Given the description of an element on the screen output the (x, y) to click on. 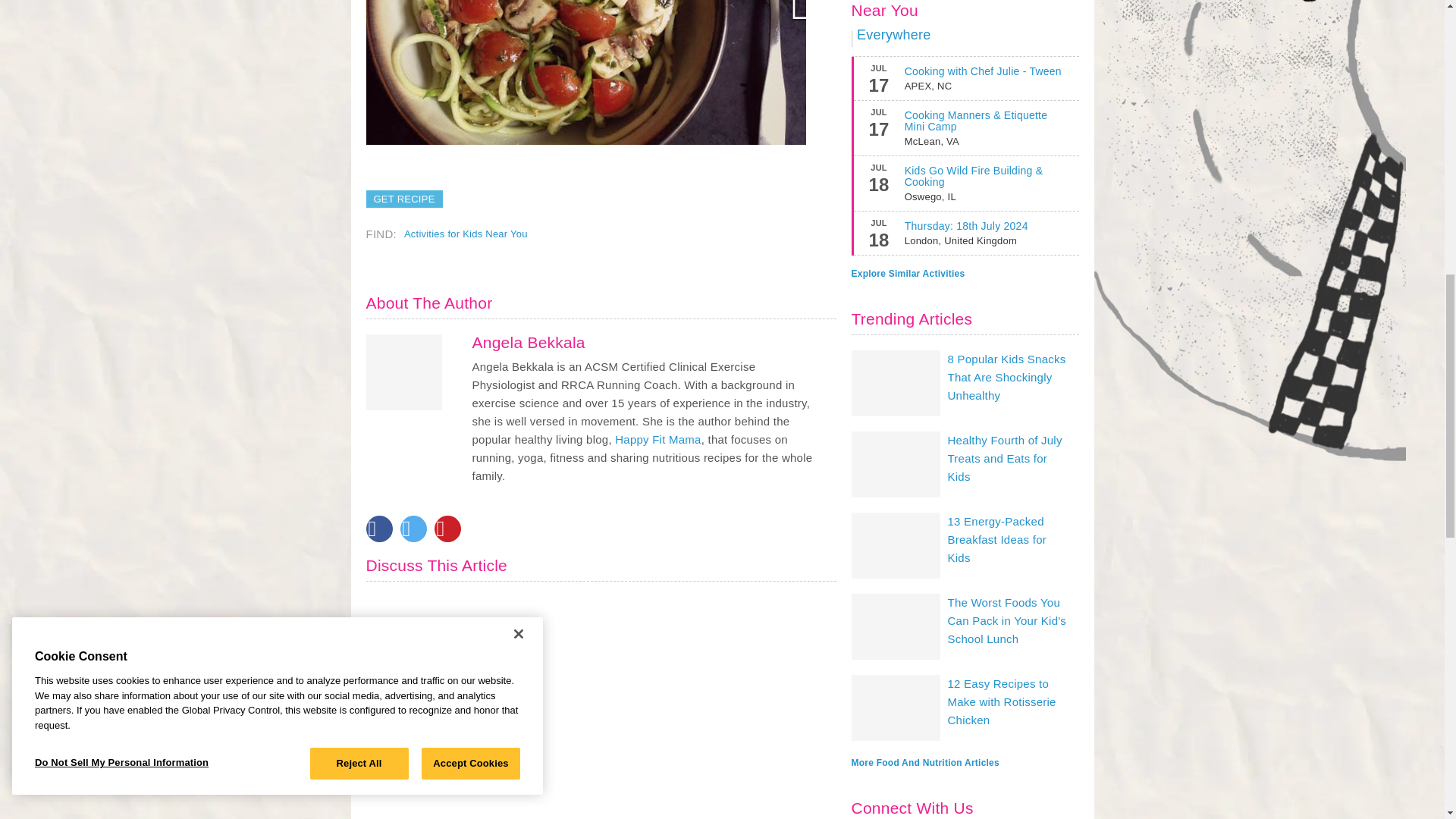
Share on Facebook (378, 528)
Share on Twitter (413, 528)
Share on Pinterest (446, 528)
